Given the description of an element on the screen output the (x, y) to click on. 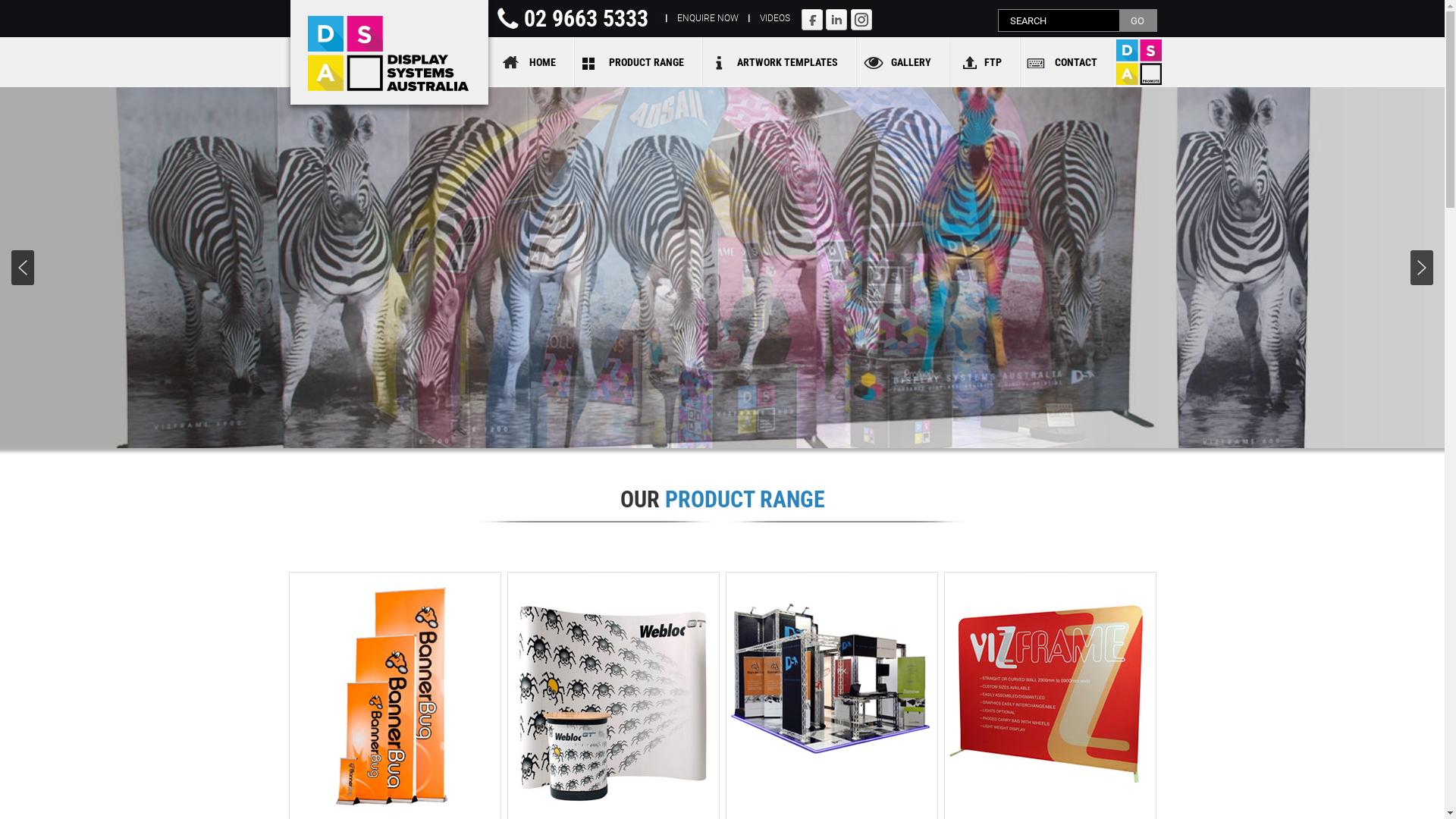
PRODUCT RANGE Element type: text (638, 62)
BROWSE PRODUCTS Element type: text (721, 292)
ENQUIRE NOW Element type: text (706, 17)
GALLERY Element type: text (903, 62)
HOME Element type: text (534, 62)
CONTACT Element type: text (1068, 62)
ARTWORK TEMPLATES Element type: text (779, 62)
GO Element type: text (1138, 20)
VIDEOS Element type: text (774, 17)
FTP Element type: text (984, 62)
